Given the description of an element on the screen output the (x, y) to click on. 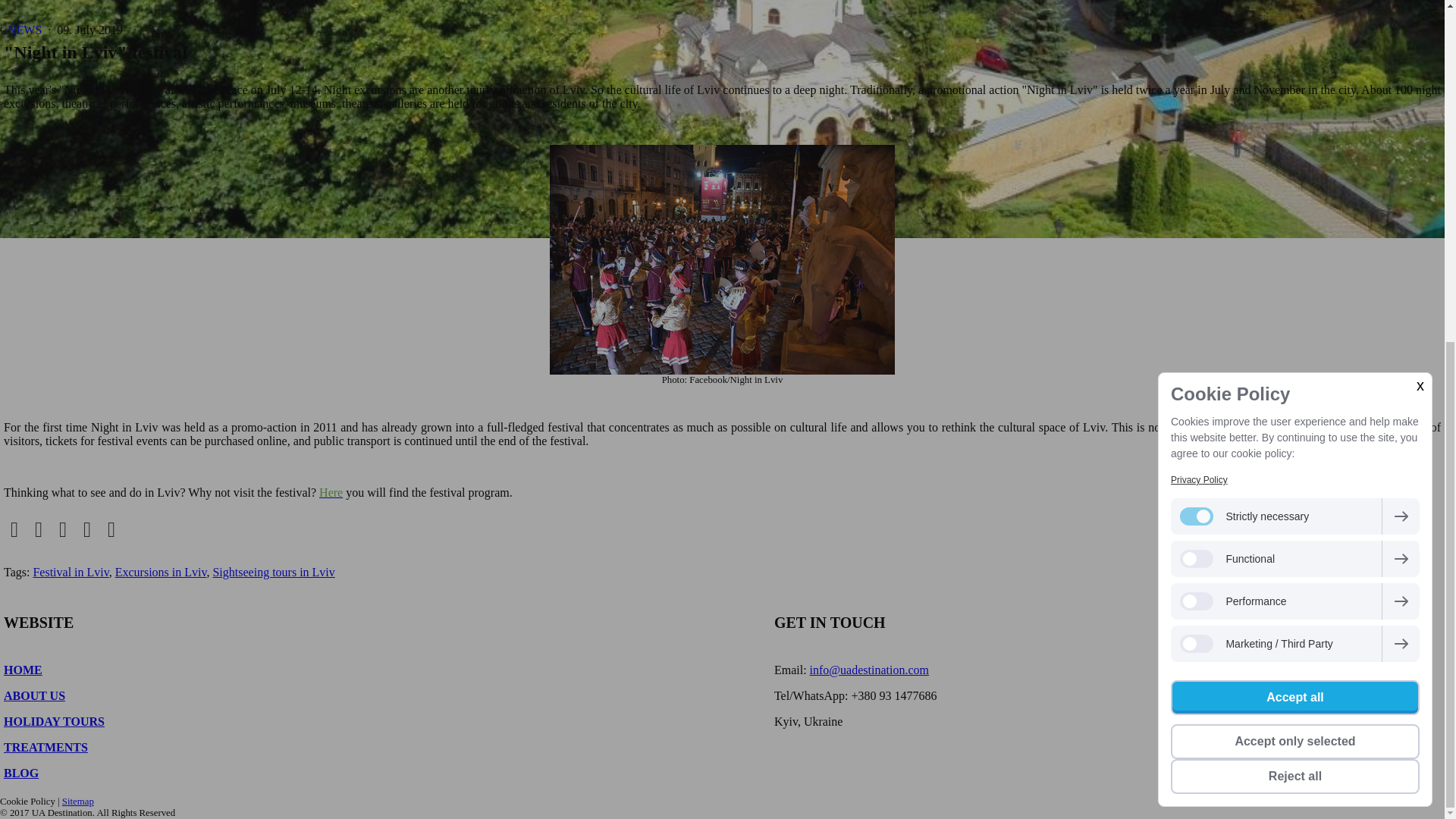
NEWS (26, 29)
FAQ (1180, 669)
LinkedIn (63, 529)
PRIVACY POLICY (1217, 747)
BLOG (21, 772)
HOME (23, 669)
Digg (111, 529)
Here (330, 492)
Twitter (38, 529)
HOLIDAY TOURS (54, 721)
